Given the description of an element on the screen output the (x, y) to click on. 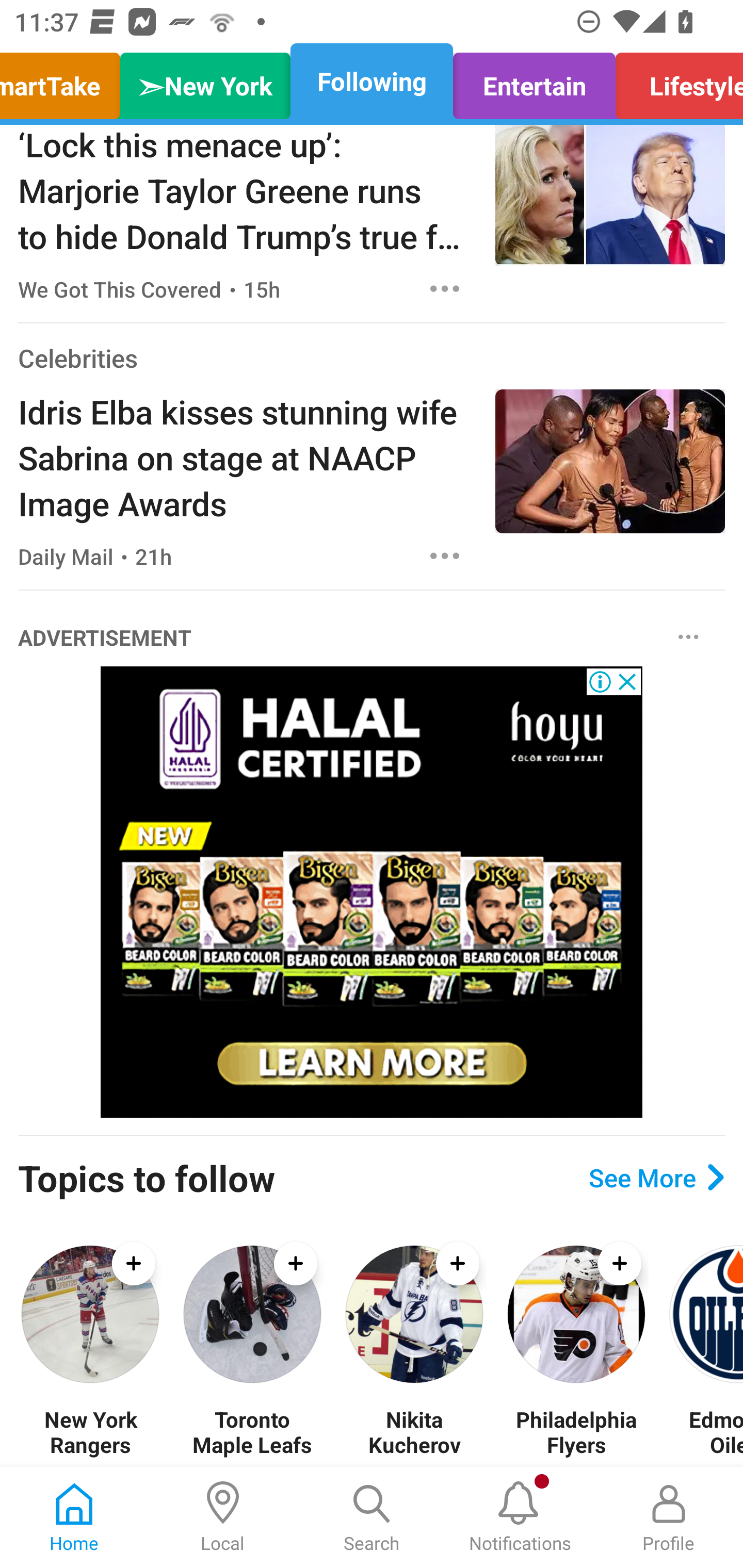
➣New York (205, 81)
Following (371, 81)
Entertain (534, 81)
Options (444, 288)
Celebrities (77, 357)
Options (444, 555)
Options (688, 637)
28 (371, 891)
See More (656, 1177)
New York Rangers (89, 1431)
Toronto Maple Leafs (251, 1431)
Nikita Kucherov (413, 1431)
Philadelphia Flyers (575, 1431)
Local (222, 1517)
Search (371, 1517)
Notifications, New notification Notifications (519, 1517)
Profile (668, 1517)
